Given the description of an element on the screen output the (x, y) to click on. 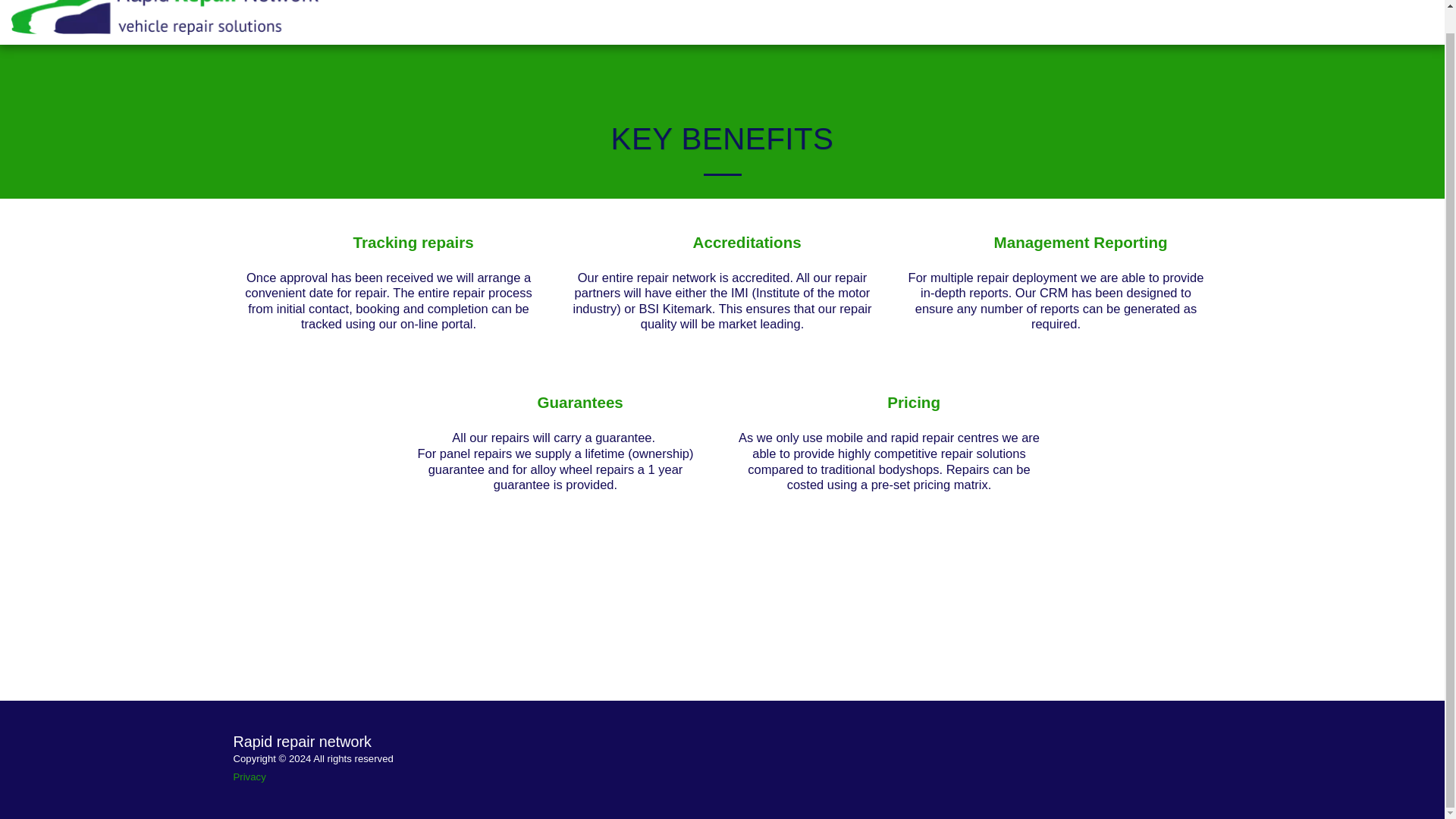
Management Reporting (1080, 242)
Pricing (913, 403)
Privacy (249, 776)
Guarantees (580, 403)
Accreditations (747, 242)
Tracking repairs (413, 242)
